Given the description of an element on the screen output the (x, y) to click on. 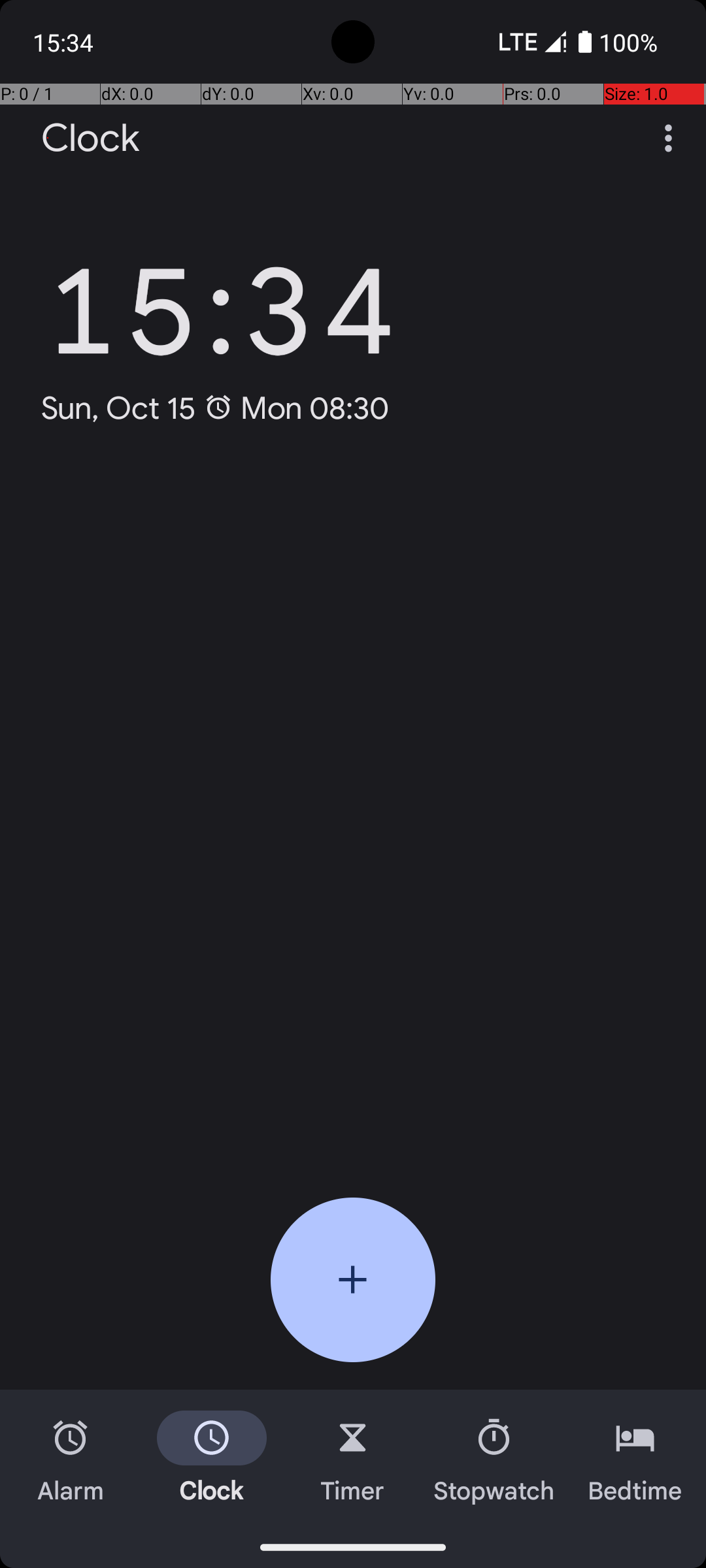
Sun, Oct 15 A Mon 08:30 Element type: android.widget.TextView (215, 407)
